Given the description of an element on the screen output the (x, y) to click on. 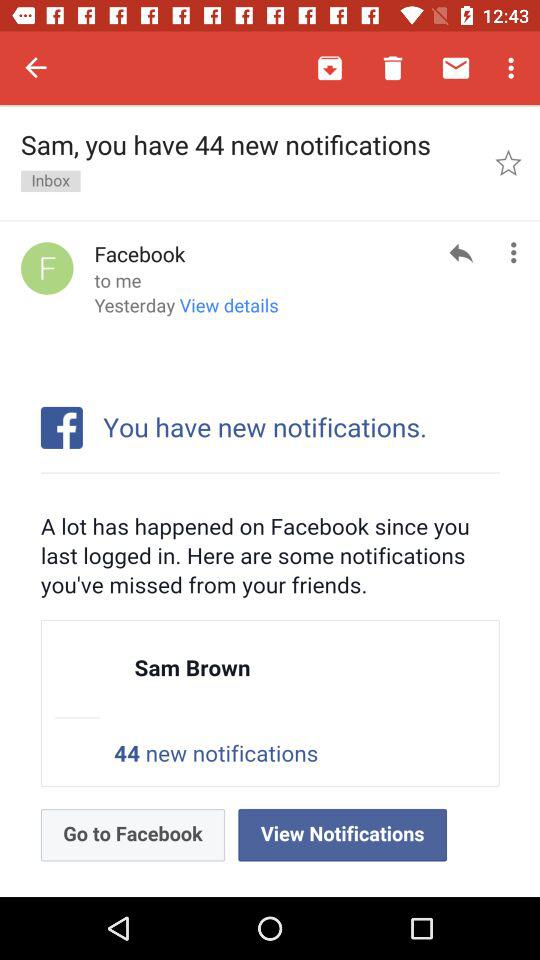
press the item next to the yesterday view details (460, 252)
